Given the description of an element on the screen output the (x, y) to click on. 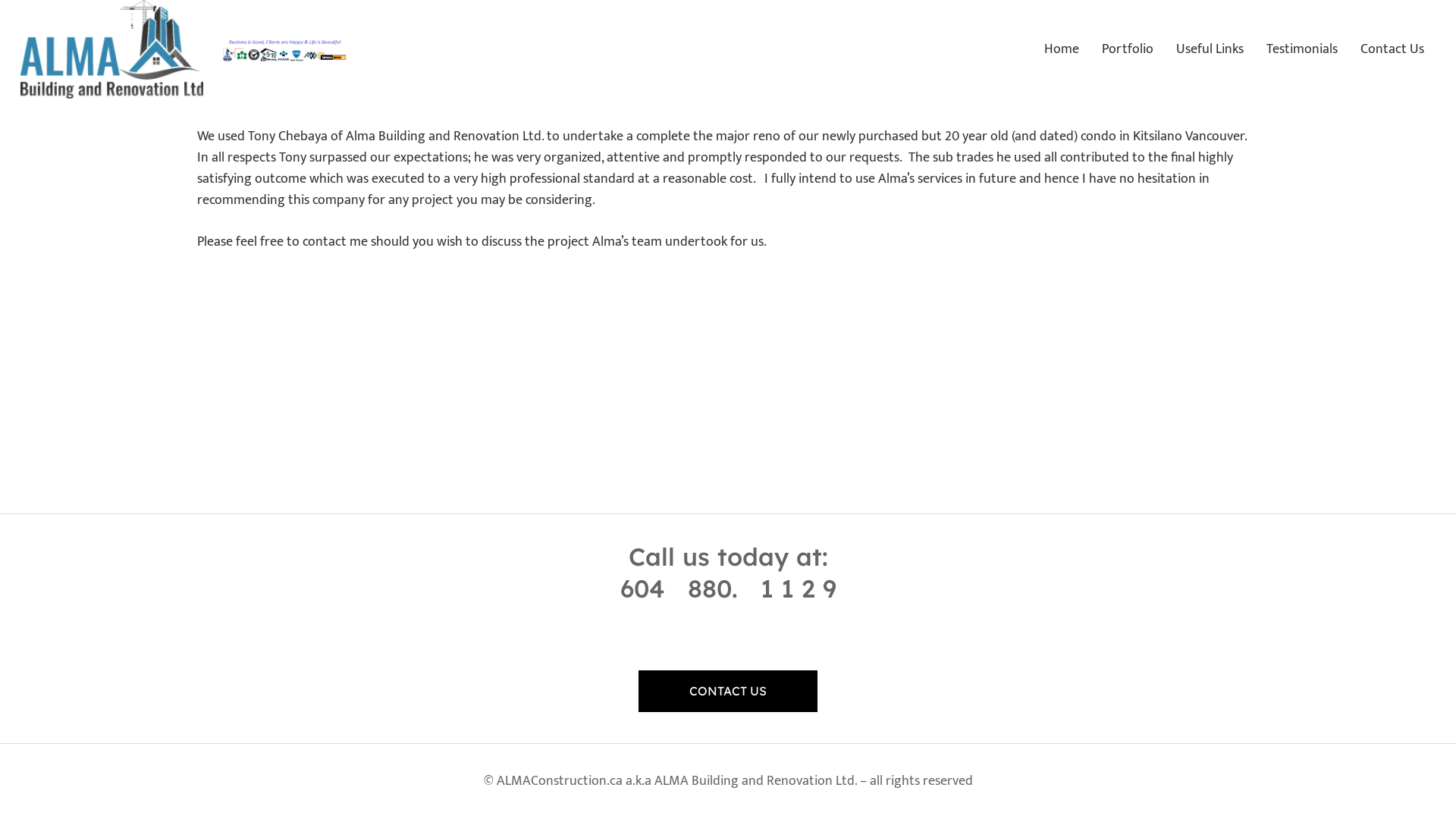
Useful Links Element type: text (1209, 49)
Home Element type: text (1061, 49)
CONTACT US Element type: text (727, 690)
Contact Us Element type: text (1392, 49)
Testimonials Element type: text (1302, 49)
Portfolio Element type: text (1127, 49)
